Given the description of an element on the screen output the (x, y) to click on. 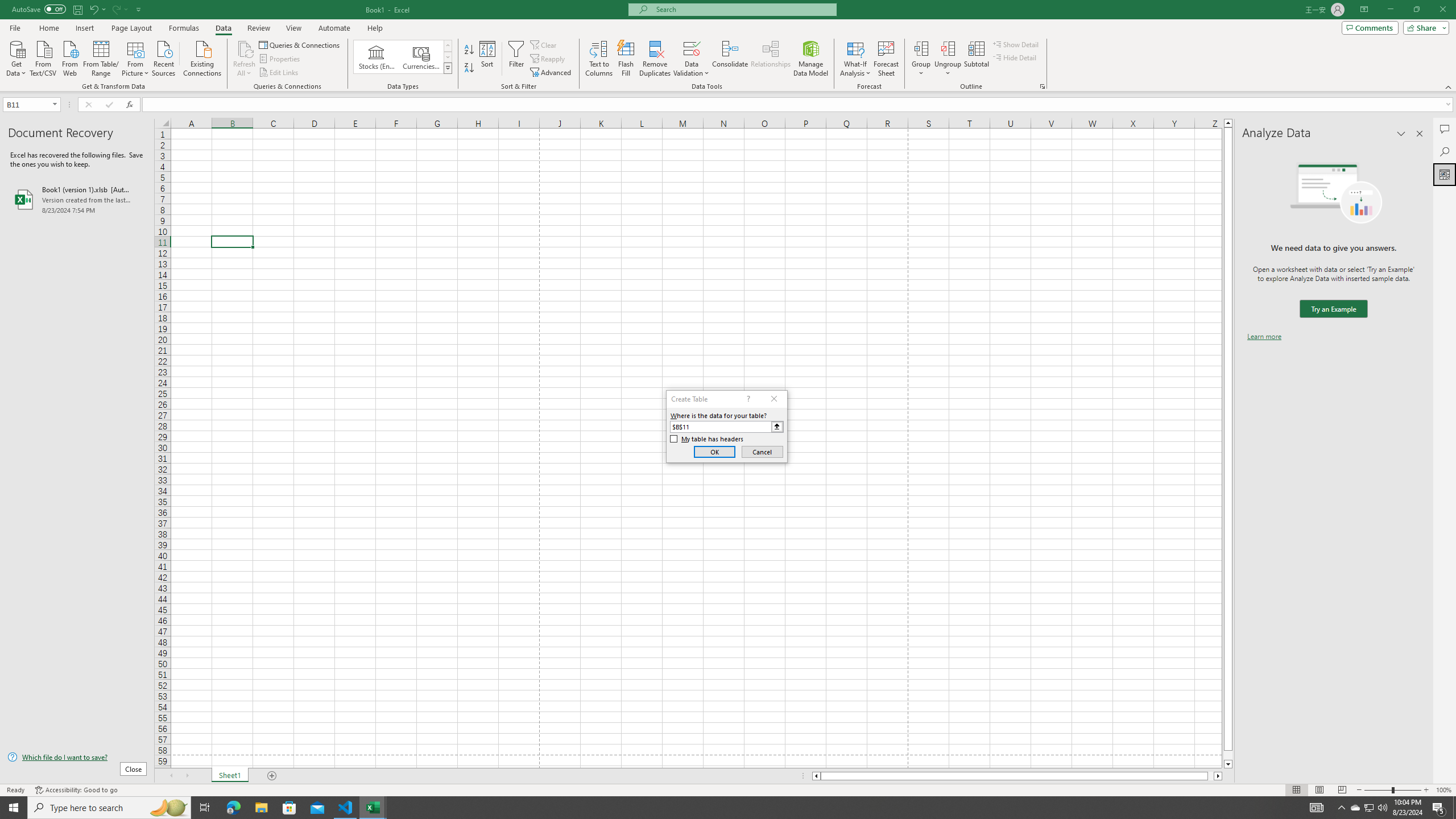
From Text/CSV (43, 57)
Flash Fill (625, 58)
Properties (280, 58)
Hide Detail (1014, 56)
AutomationID: ConvertToLinkedEntity (403, 56)
